Given the description of an element on the screen output the (x, y) to click on. 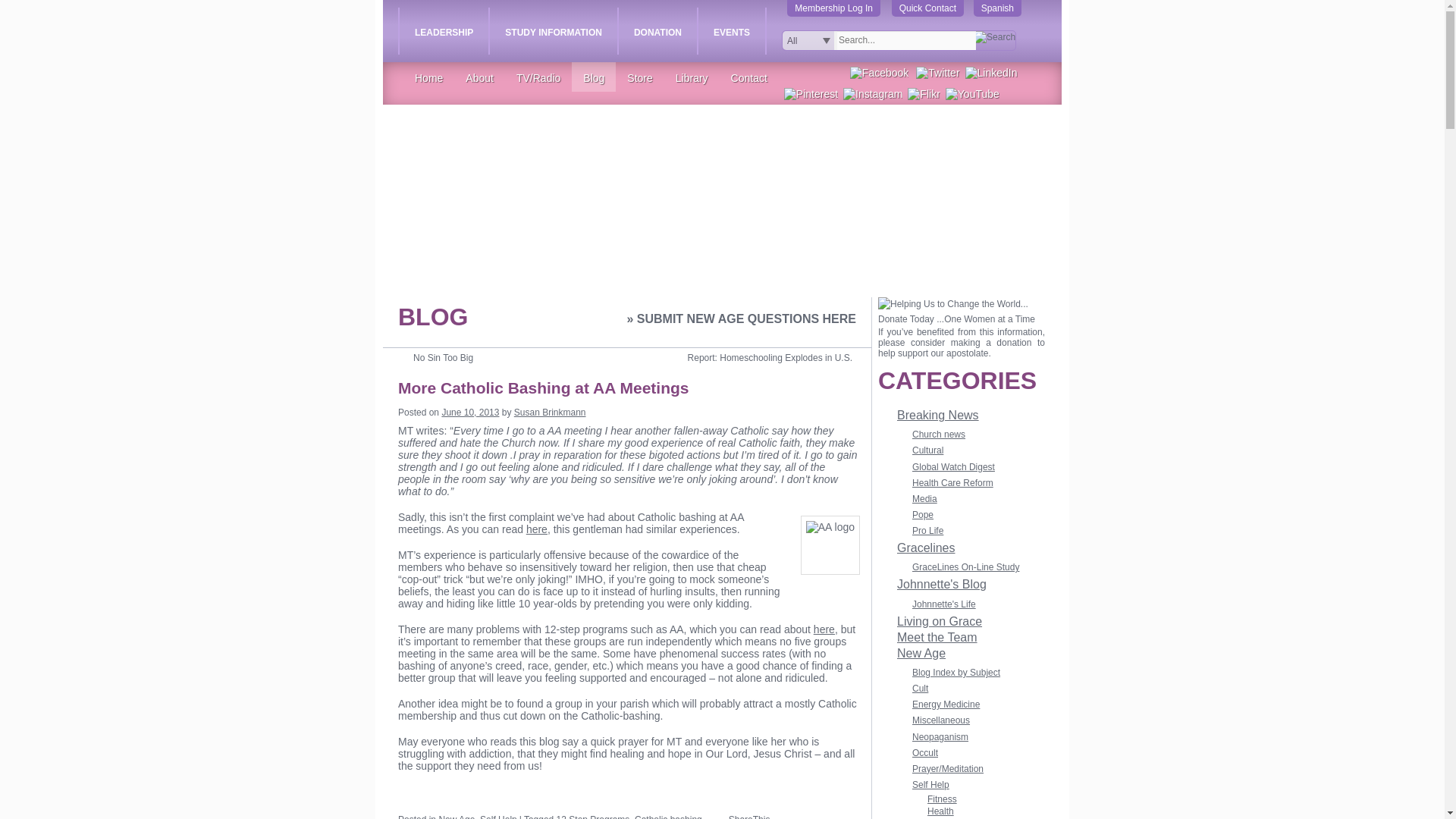
New Age (456, 816)
Tired of Church Bashing at AA Meetings (536, 529)
Report: Homeschooling Explodes in U.S. (777, 357)
LEADERSHIP (442, 30)
EVENTS (731, 30)
Spanish (998, 8)
BLOG (432, 316)
Self Help (498, 816)
Twelve Step Programs (823, 629)
Catholic bashing (667, 816)
